Given the description of an element on the screen output the (x, y) to click on. 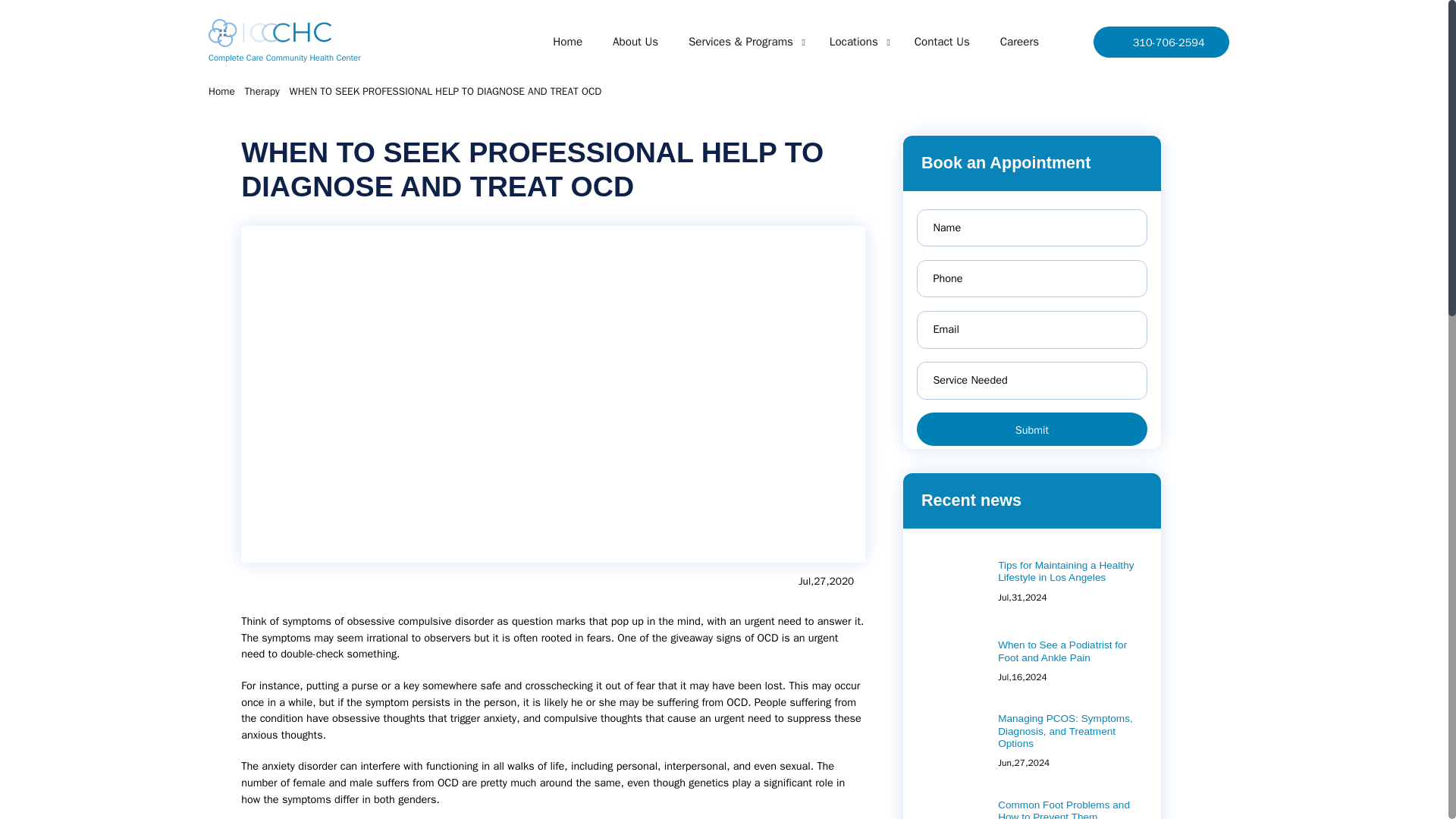
When to See a Podiatrist for Foot and Ankle Pain (1328, 809)
Careers (1273, 52)
Locations (1066, 52)
About Us (793, 52)
Tips for Maintaining a Healthy Lifestyle in Los Angeles (1331, 714)
Home (710, 52)
Therapy (327, 114)
Adult Primary Care Services in Los Angeles (1003, 82)
Home (277, 114)
Complete Care Community Health Center (362, 56)
Contact Us (1176, 52)
Submit (1289, 536)
Home (277, 114)
Culver City (1086, 84)
Altadena (945, 84)
